Given the description of an element on the screen output the (x, y) to click on. 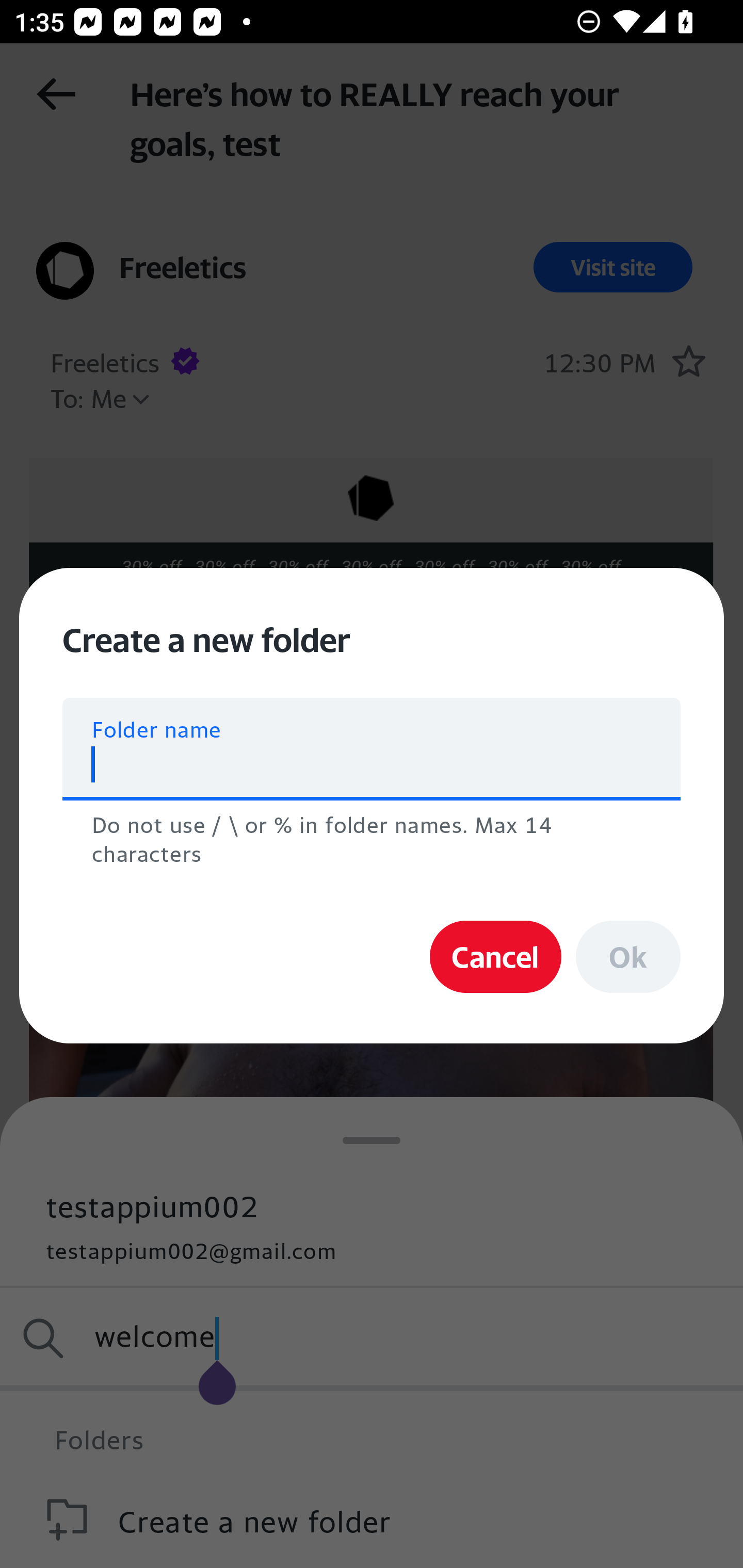
Cancel (495, 957)
Ok (627, 957)
